Given the description of an element on the screen output the (x, y) to click on. 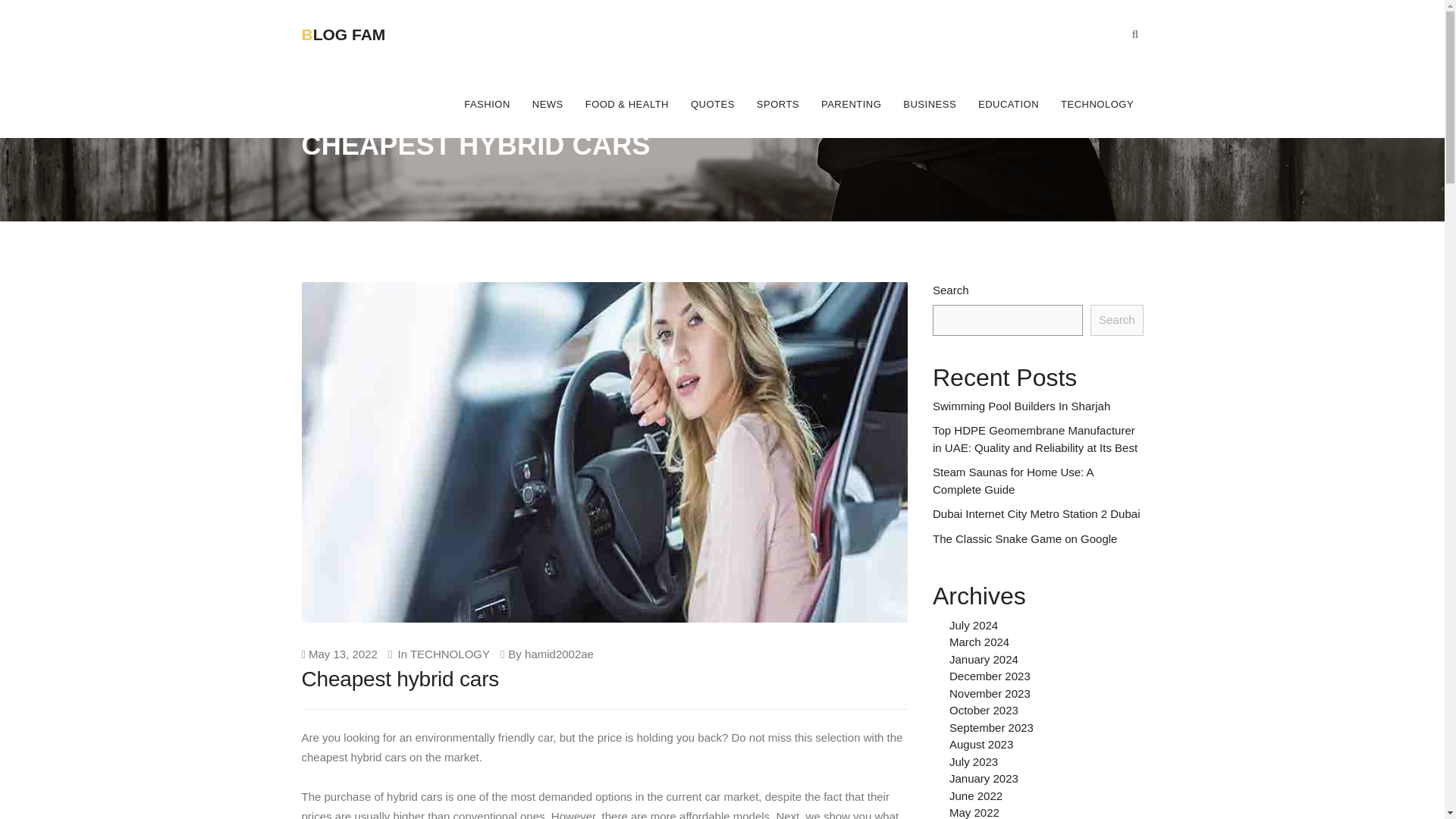
BUSINESS (929, 102)
Home (316, 117)
FASHION (486, 102)
PARENTING (851, 102)
TECHNOLOGY (1096, 102)
TECHNOLOGY (449, 653)
QUOTES (712, 102)
BLOG FAM (362, 23)
EDUCATION (1008, 102)
hamid2002ae (559, 653)
